Given the description of an element on the screen output the (x, y) to click on. 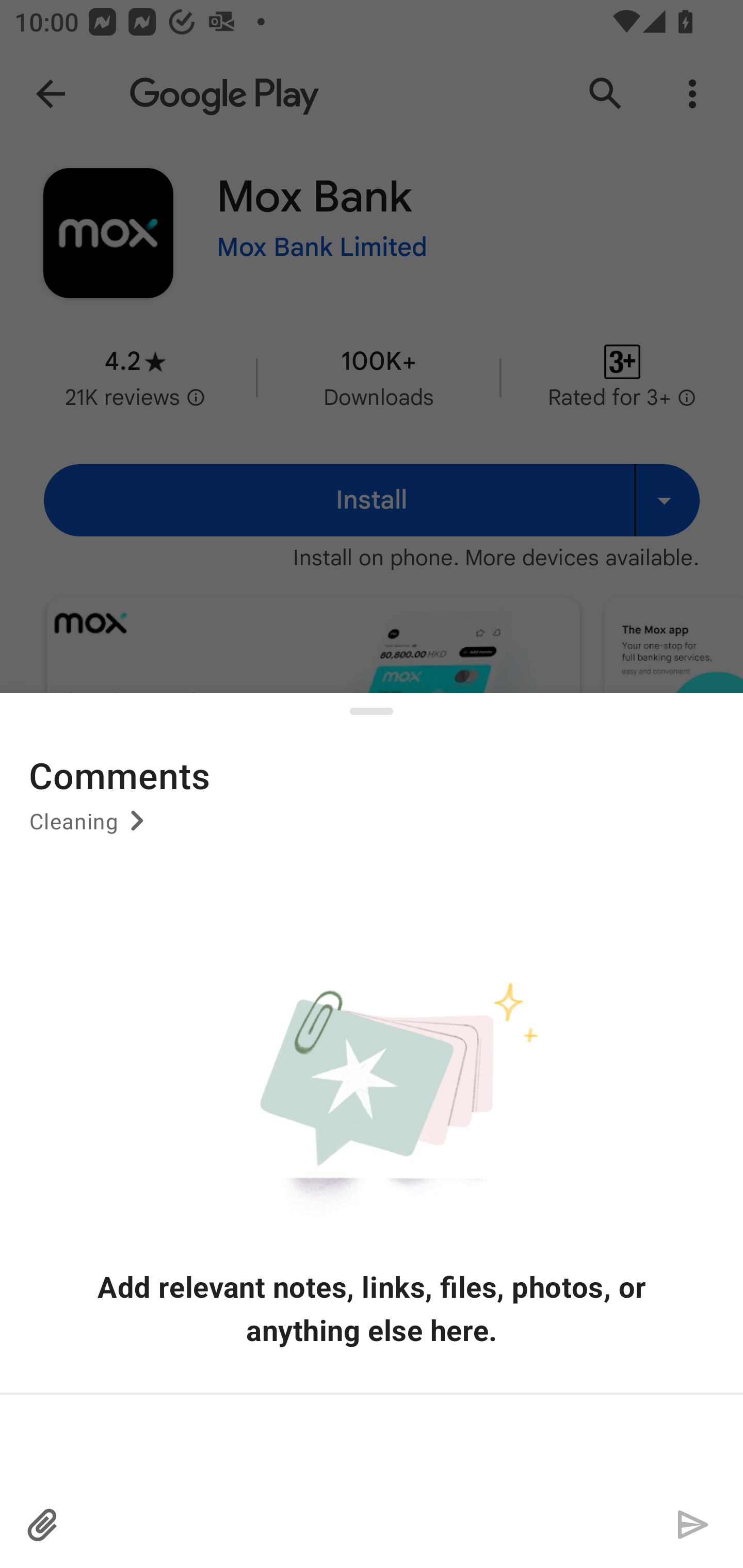
Cleaning (89, 828)
Attachment (43, 1524)
Submit (692, 1524)
